Given the description of an element on the screen output the (x, y) to click on. 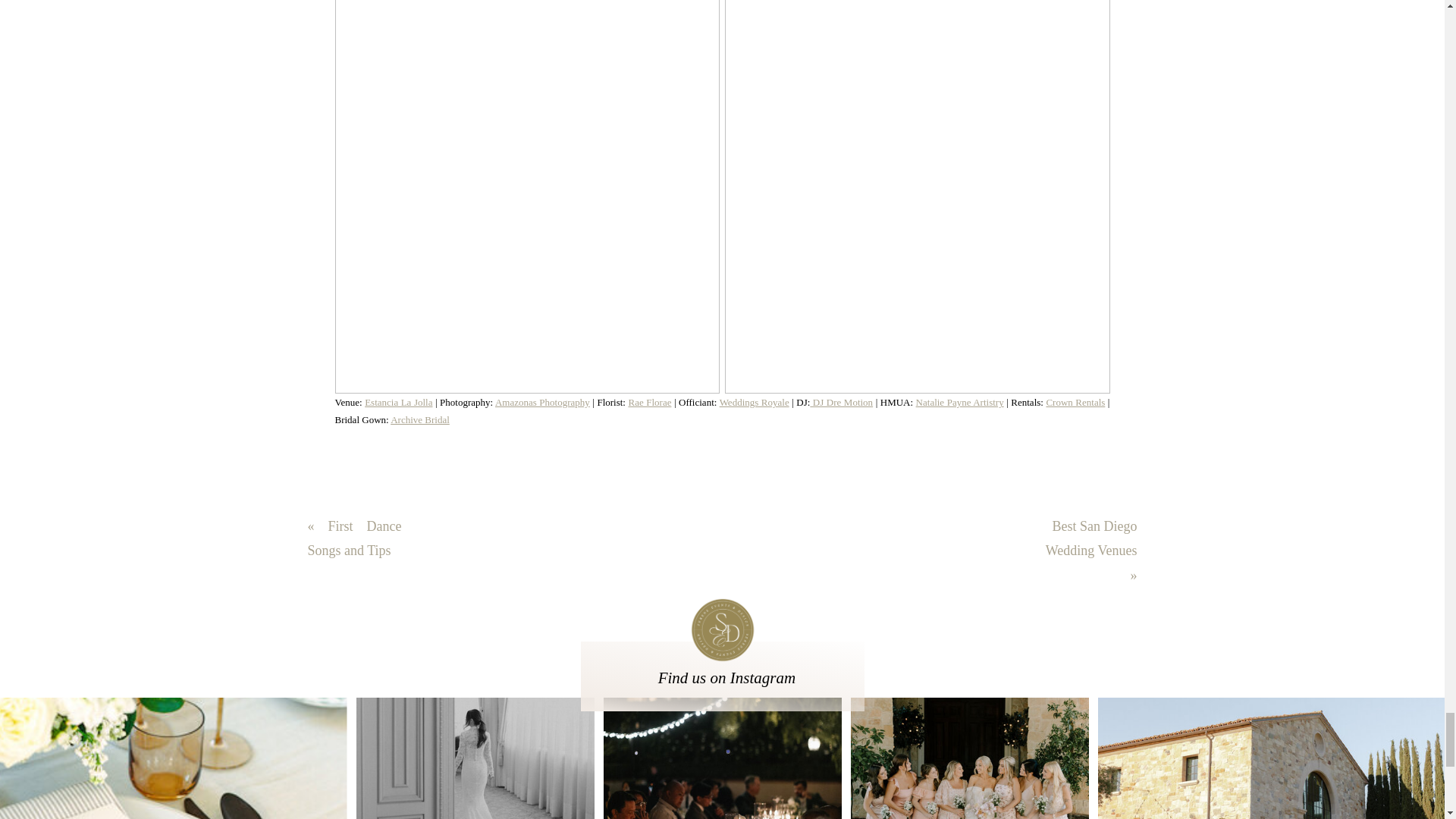
Rae Florae (649, 401)
DJ Dre Motion (840, 401)
Amazonas Photography (542, 401)
Archive Bridal (419, 419)
Estancia La Jolla (398, 401)
Weddings Royale (754, 401)
Best San Diego Wedding Venues (1091, 537)
First Dance Songs and Tips (354, 537)
Crown Rentals (1075, 401)
Natalie Payne Artistry (959, 401)
